Given the description of an element on the screen output the (x, y) to click on. 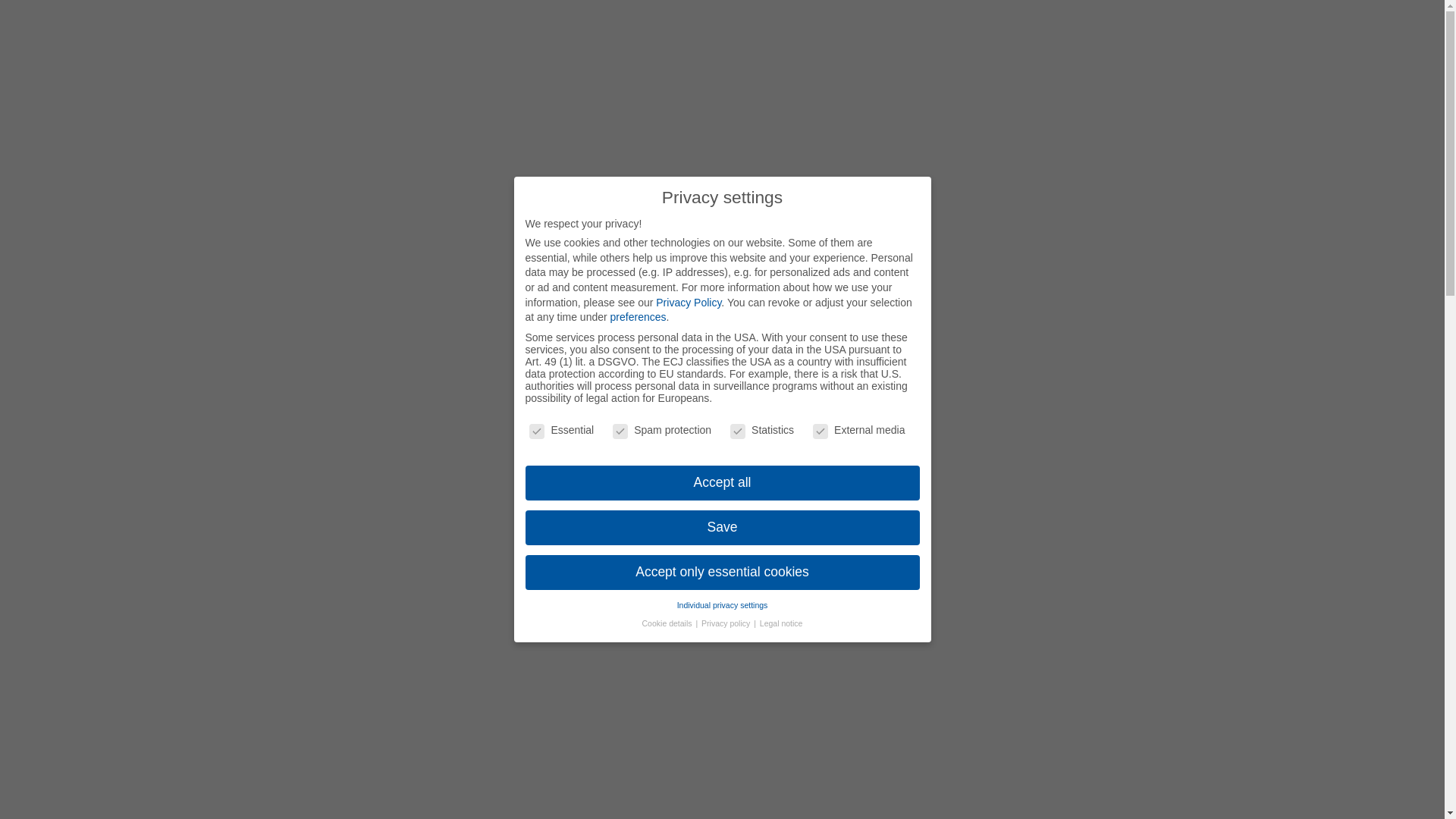
Jobs (1144, 19)
Company (841, 92)
Contact (1095, 19)
